Given the description of an element on the screen output the (x, y) to click on. 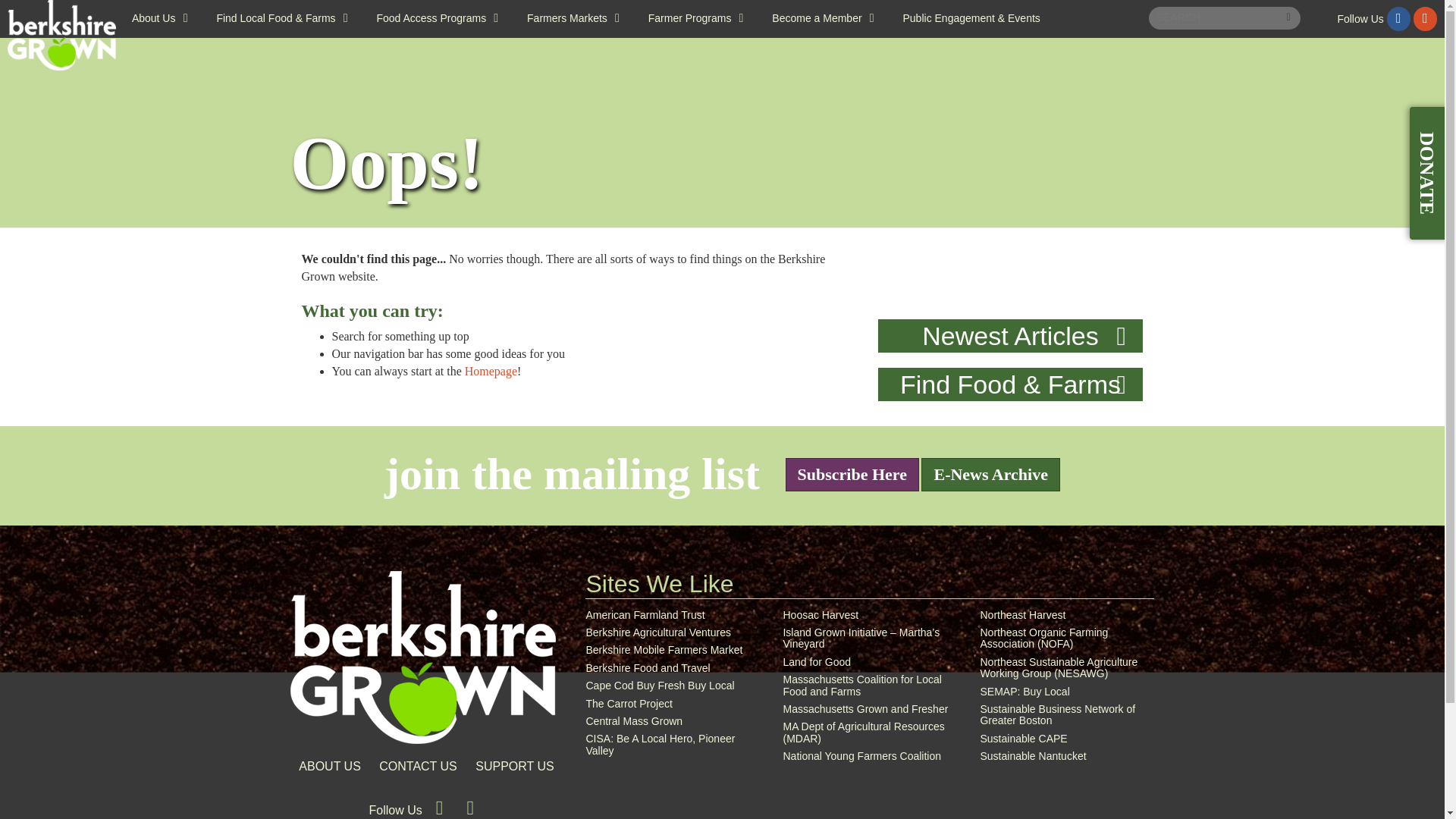
Farmer Programs (695, 18)
Home (61, 35)
Farmers Markets (572, 18)
Homepage (421, 656)
Become a Member (822, 18)
Food Access Programs (436, 18)
About Us (159, 18)
